Given the description of an element on the screen output the (x, y) to click on. 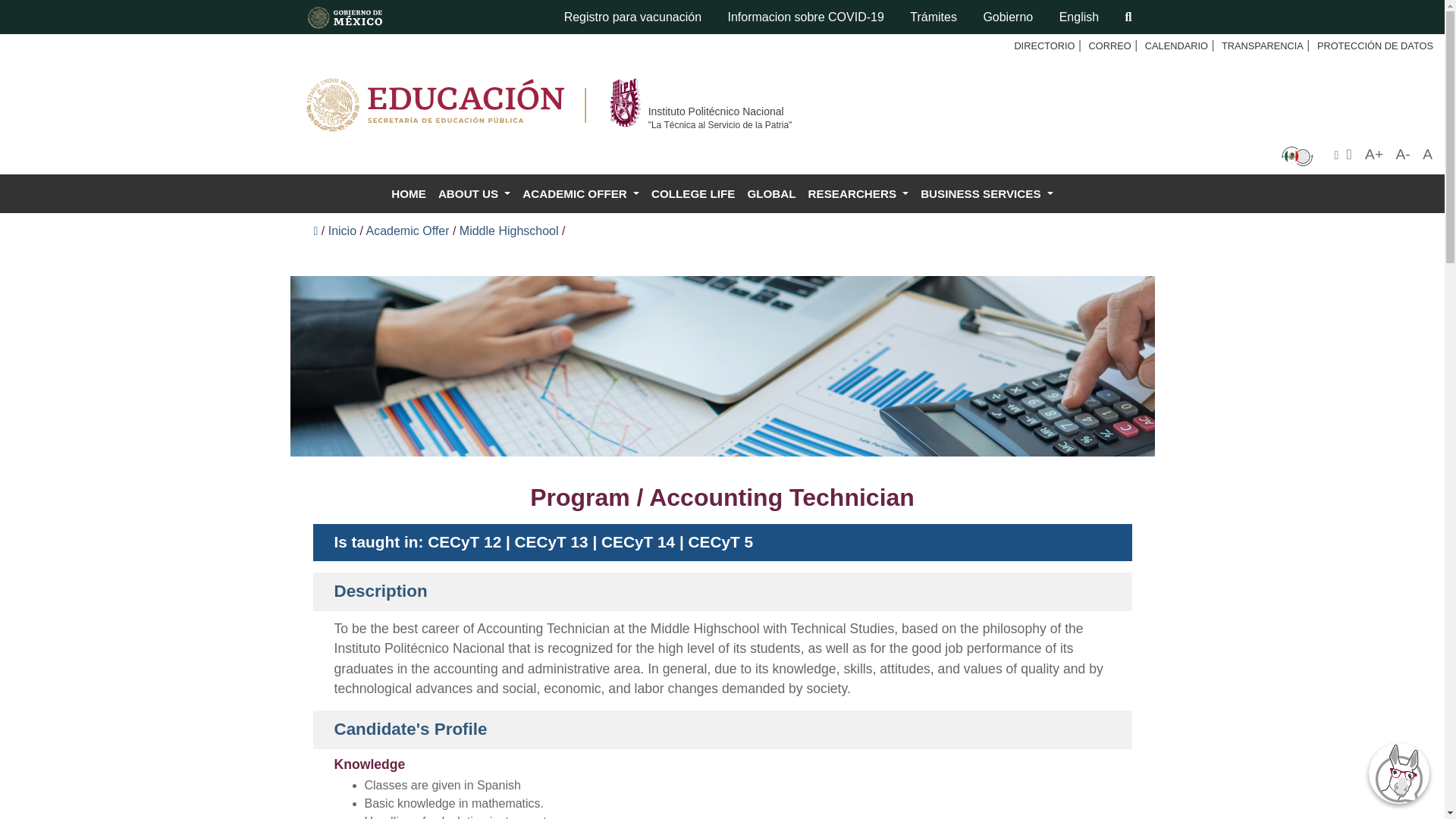
Home (408, 194)
CORREO (1110, 45)
COLLEGE LIFE (693, 194)
Gobierno (1007, 17)
RESEARCHERS (858, 194)
TRANSPARENCIA (1262, 45)
English (1078, 17)
CALENDARIO (1176, 45)
Informacion sobre COVID-19 (805, 17)
ABOUT US (474, 194)
